Given the description of an element on the screen output the (x, y) to click on. 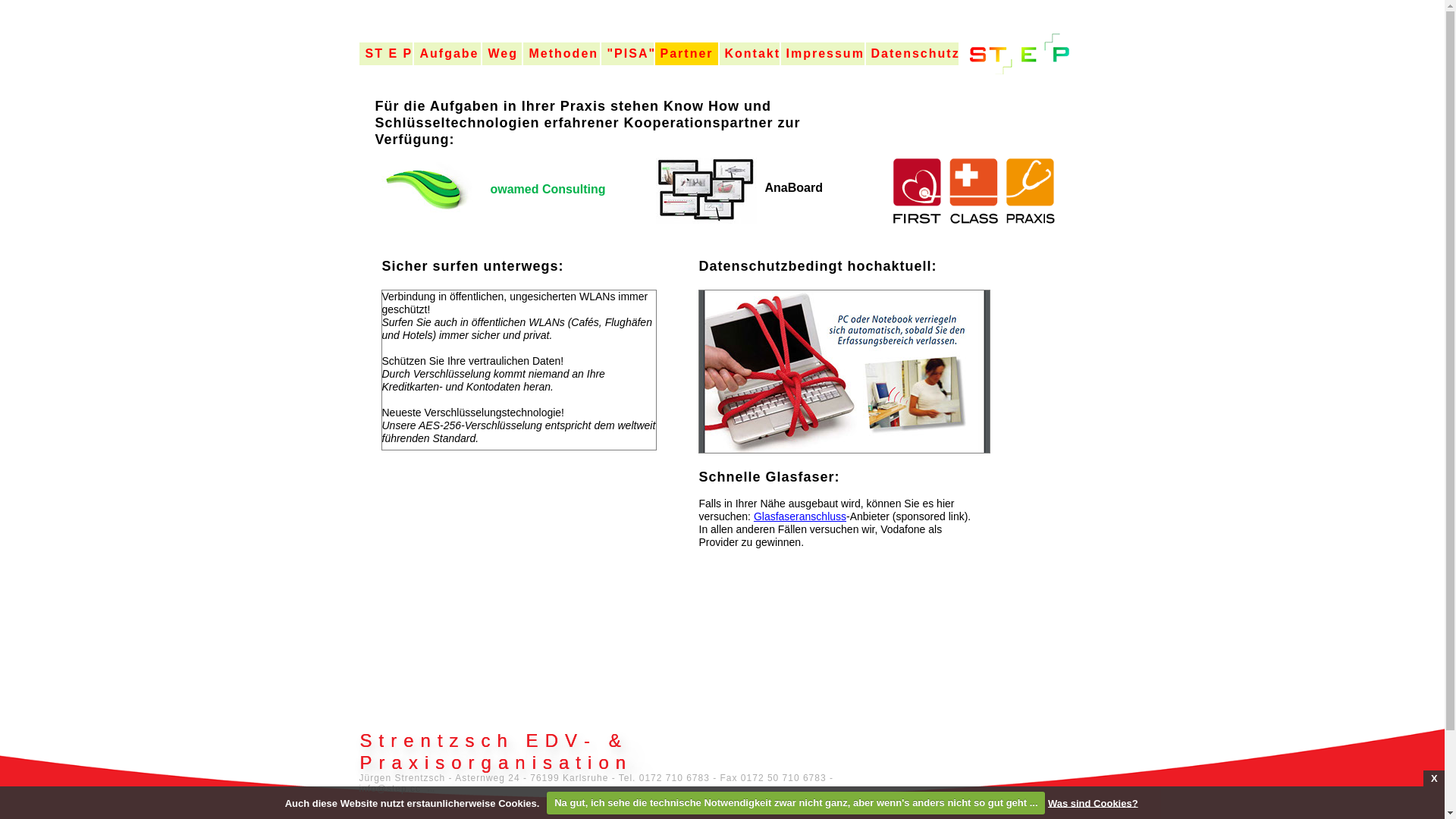
Glasfaseranschluss Element type: text (799, 516)
Was sind Cookies? Element type: text (1093, 802)
Kontakt Element type: text (748, 53)
Partner Element type: text (686, 53)
Impressum Element type: text (822, 53)
Aufgabe Element type: text (447, 53)
Weg Element type: text (501, 53)
owamed Consulting Element type: text (561, 194)
Methoden Element type: text (561, 53)
"PISA" Element type: text (626, 53)
Datenschutz Element type: text (912, 53)
ST E P Element type: text (385, 53)
